Given the description of an element on the screen output the (x, y) to click on. 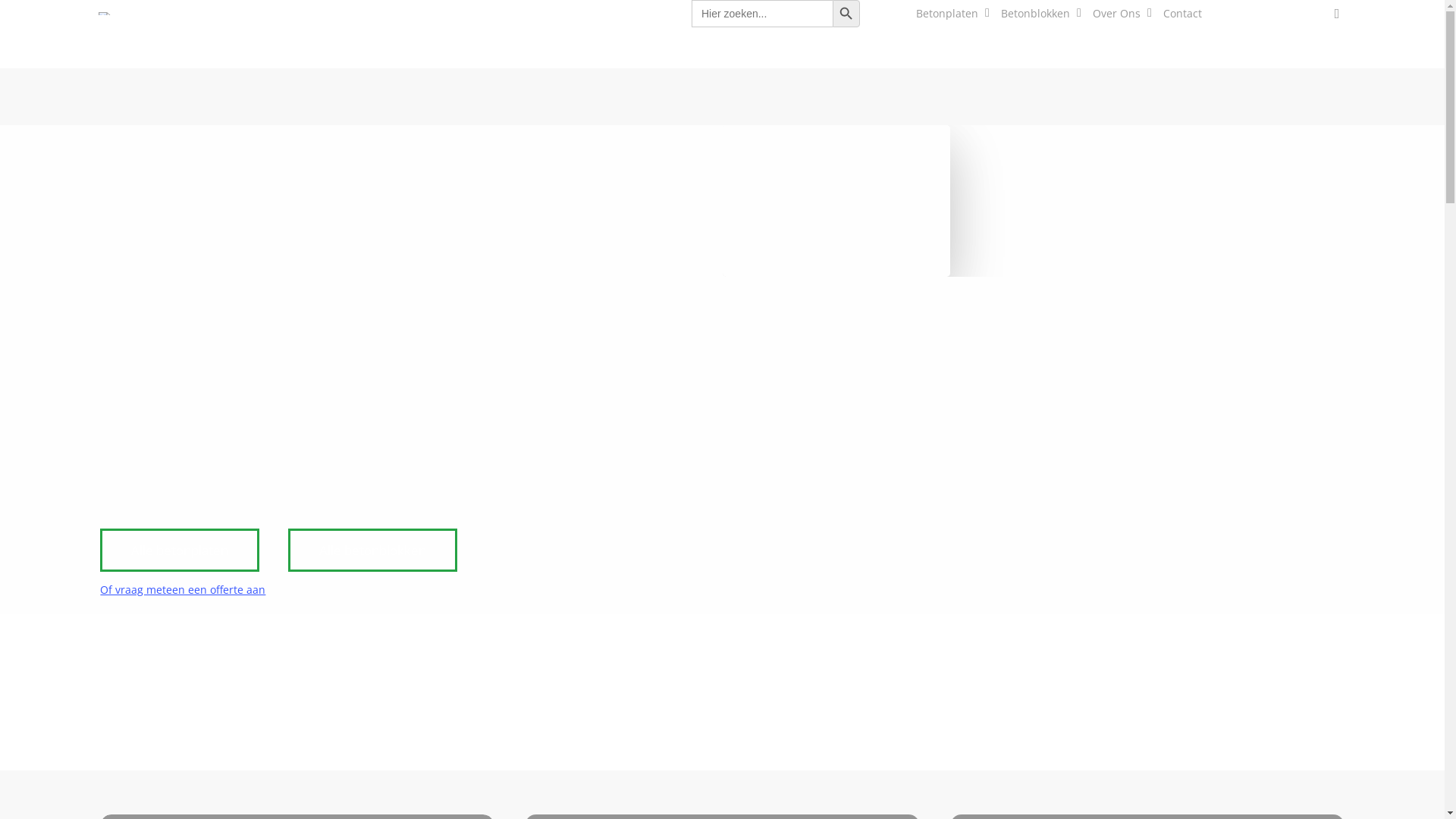
Zoekknop Element type: text (845, 13)
Mijn Constar Element type: text (1268, 13)
Contact Element type: text (1182, 13)
Alle betonblokken Element type: text (372, 549)
Of vraag meteen een offerte aan Element type: text (182, 589)
Alle betonplaten Element type: text (179, 549)
Over Ons Element type: text (1120, 13)
Betonblokken Element type: text (1039, 13)
account Element type: text (1336, 13)
Betonplaten Element type: text (950, 13)
